Given the description of an element on the screen output the (x, y) to click on. 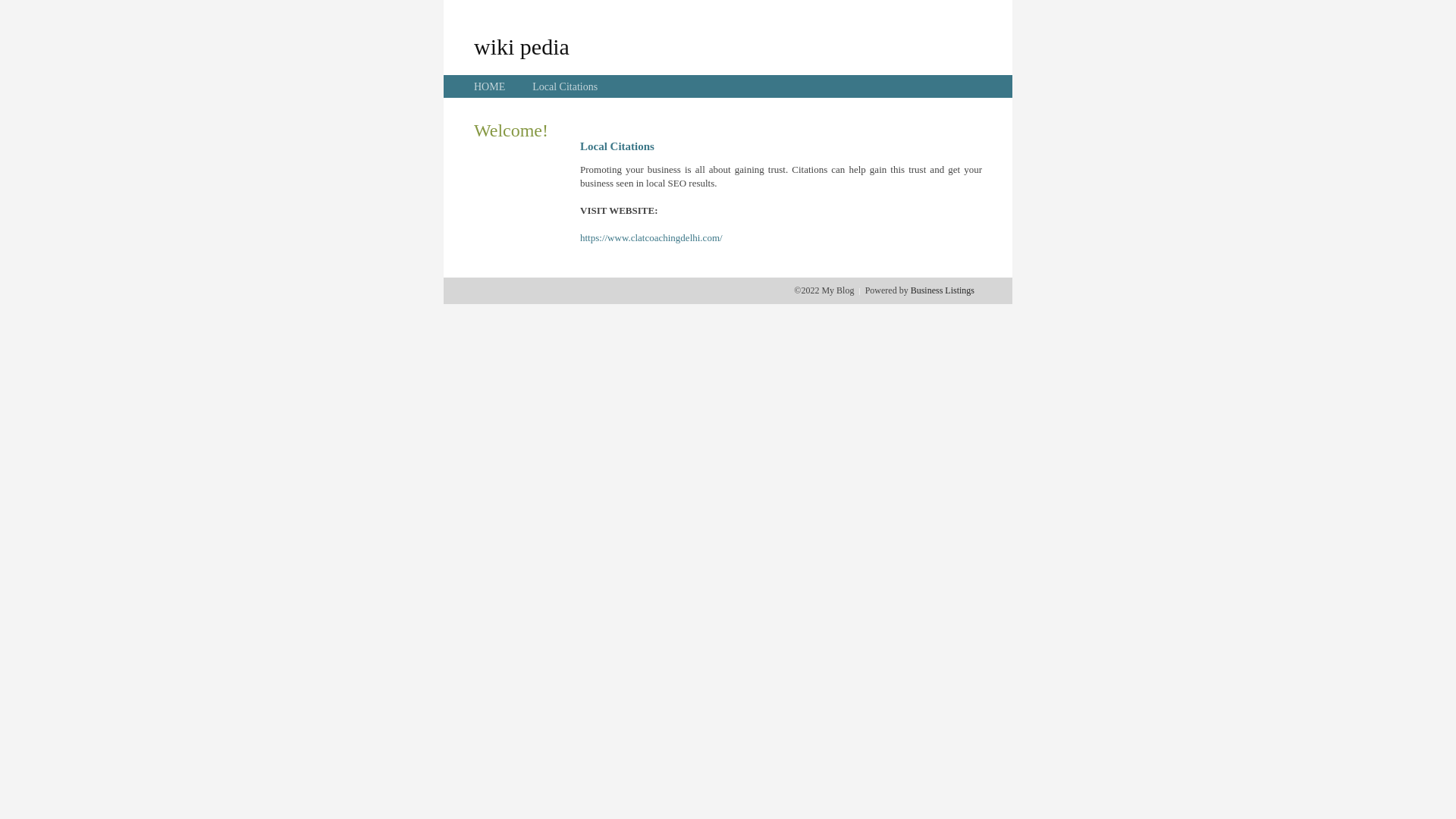
Business Listings Element type: text (942, 290)
wiki pedia Element type: text (521, 46)
HOME Element type: text (489, 86)
Local Citations Element type: text (564, 86)
https://www.clatcoachingdelhi.com/ Element type: text (651, 237)
